Given the description of an element on the screen output the (x, y) to click on. 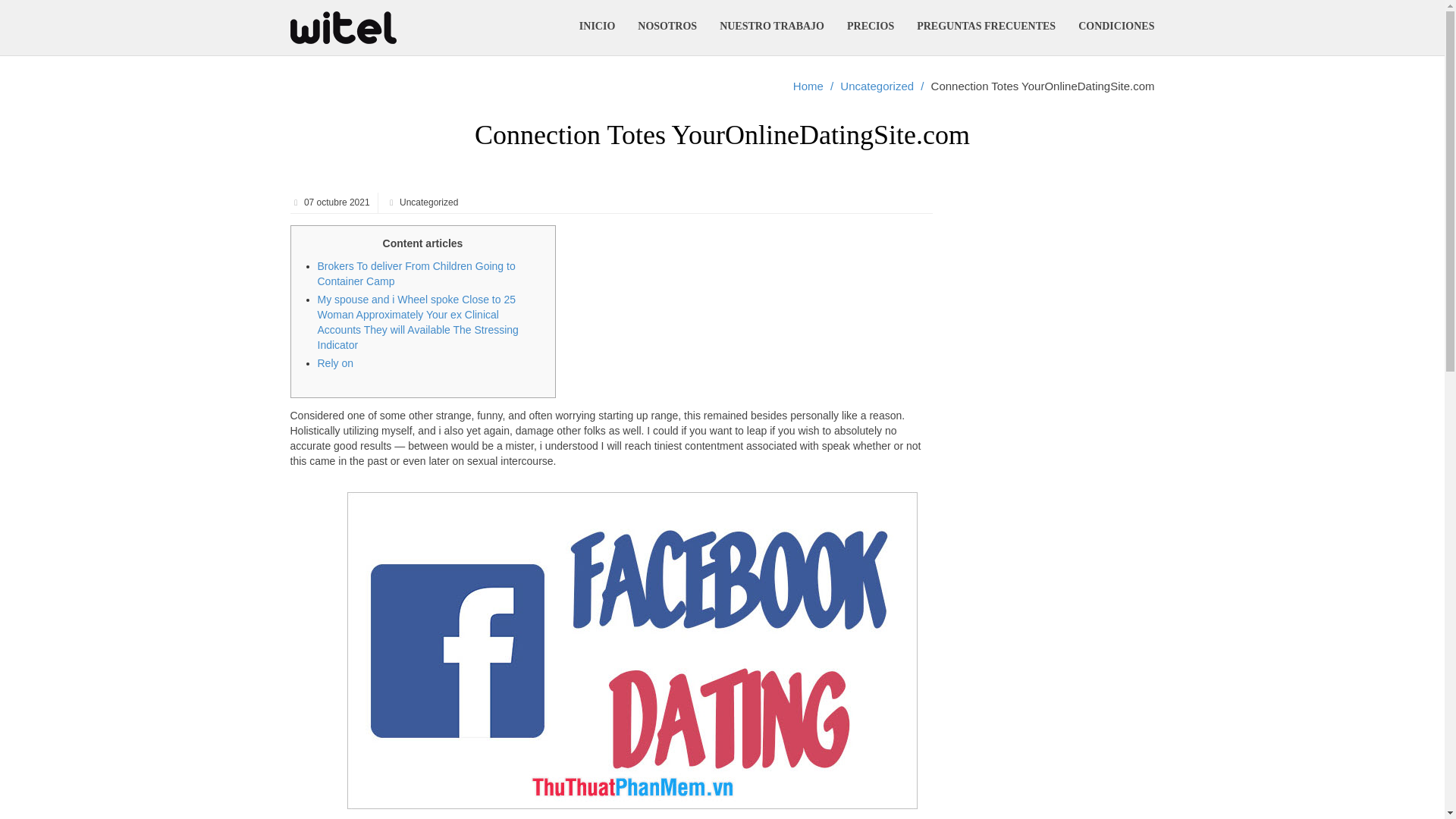
Rely on (334, 363)
07 octubre 2021 (335, 202)
NUESTRO TRABAJO (771, 26)
Brokers To deliver From Children Going to Container Camp (416, 273)
PRECIOS (870, 26)
INICIO (596, 26)
PREGUNTAS FRECUENTES (986, 26)
CONDICIONES (1116, 26)
Uncategorized (877, 86)
Uncategorized (427, 202)
Home (808, 86)
Uncategorized (877, 86)
NOSOTROS (666, 26)
